Given the description of an element on the screen output the (x, y) to click on. 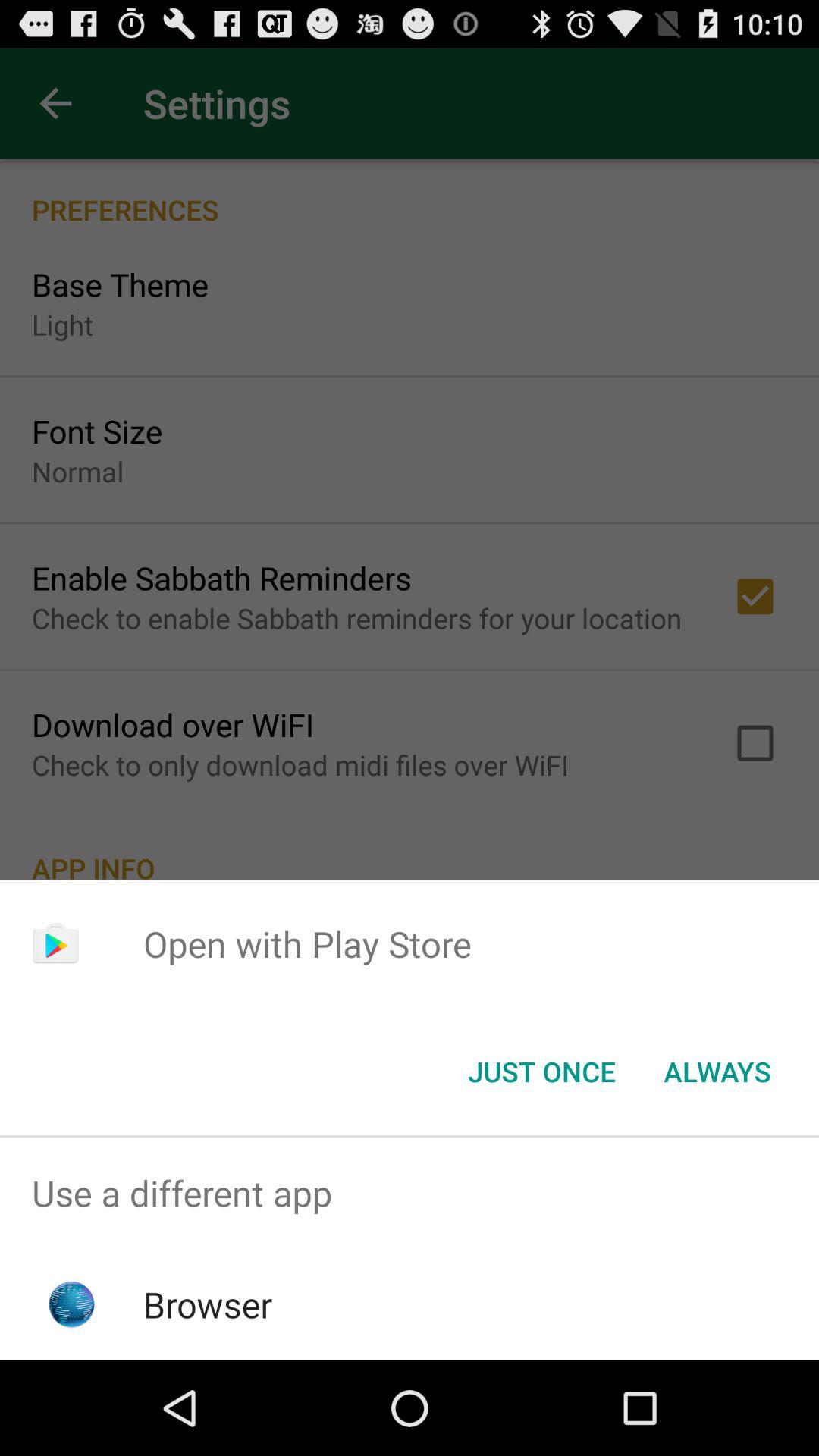
turn on item to the left of always icon (541, 1071)
